Given the description of an element on the screen output the (x, y) to click on. 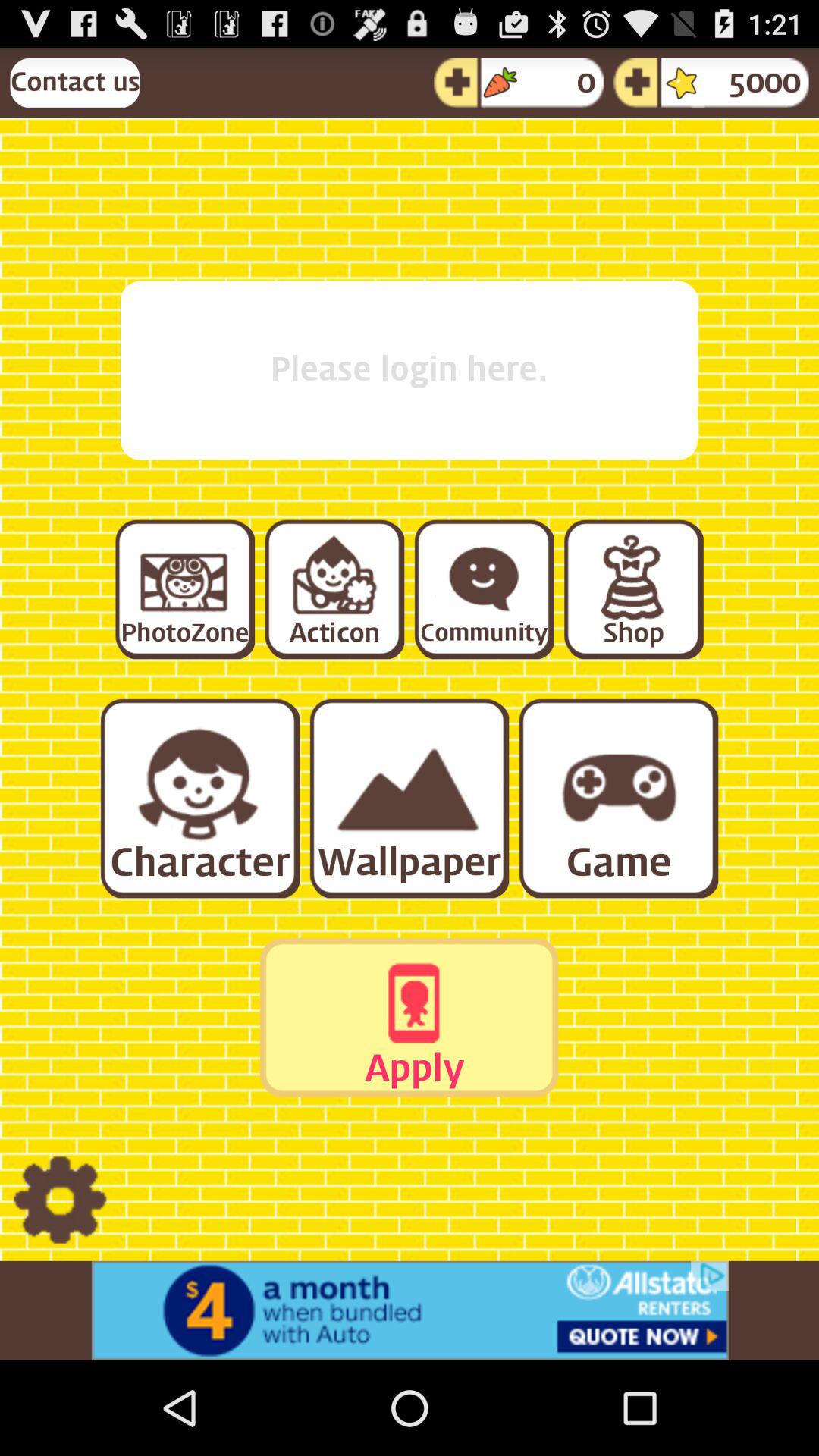
shop (632, 588)
